Given the description of an element on the screen output the (x, y) to click on. 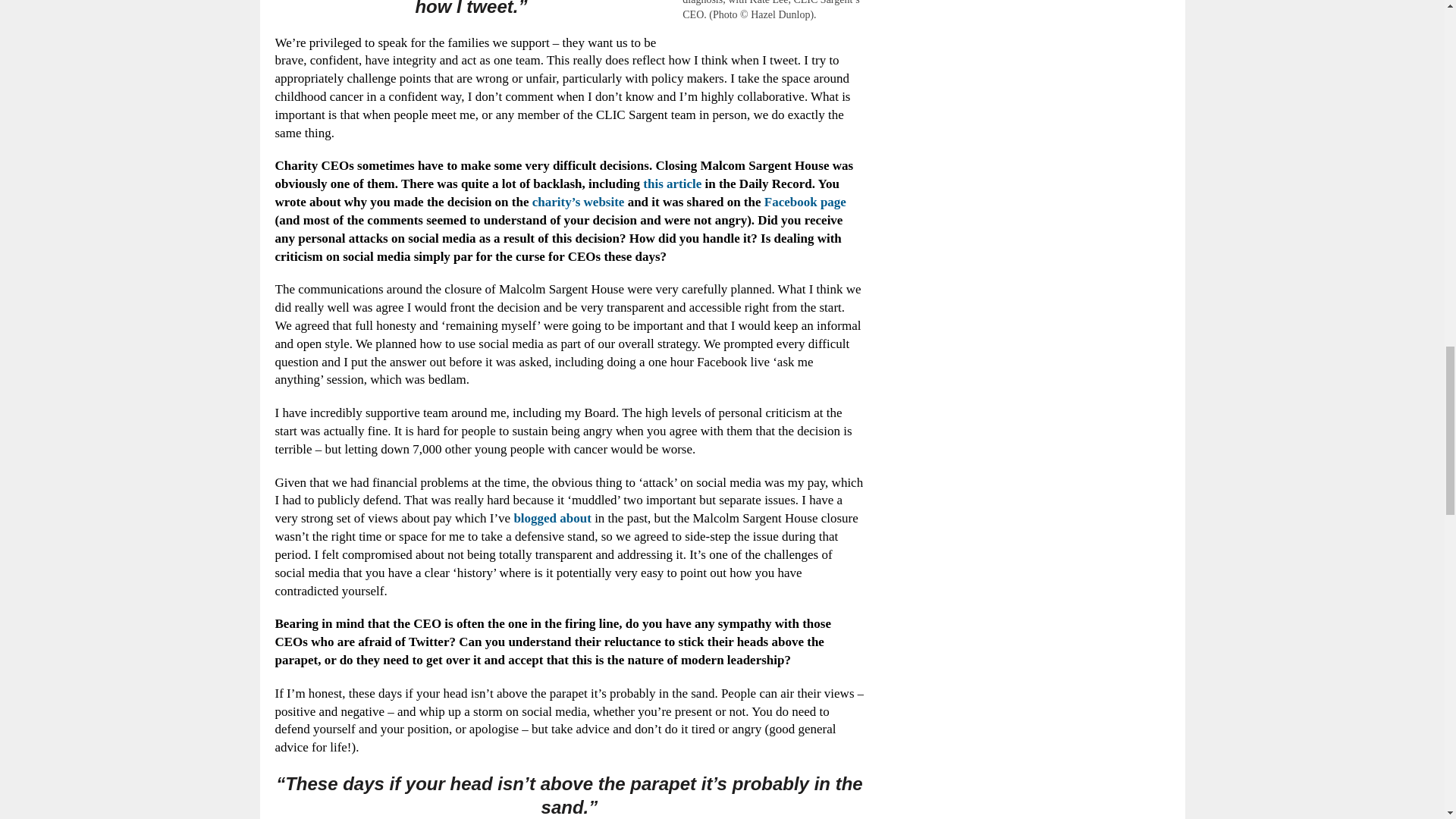
Facebook page (804, 201)
blogged about (552, 518)
this article (672, 183)
